Given the description of an element on the screen output the (x, y) to click on. 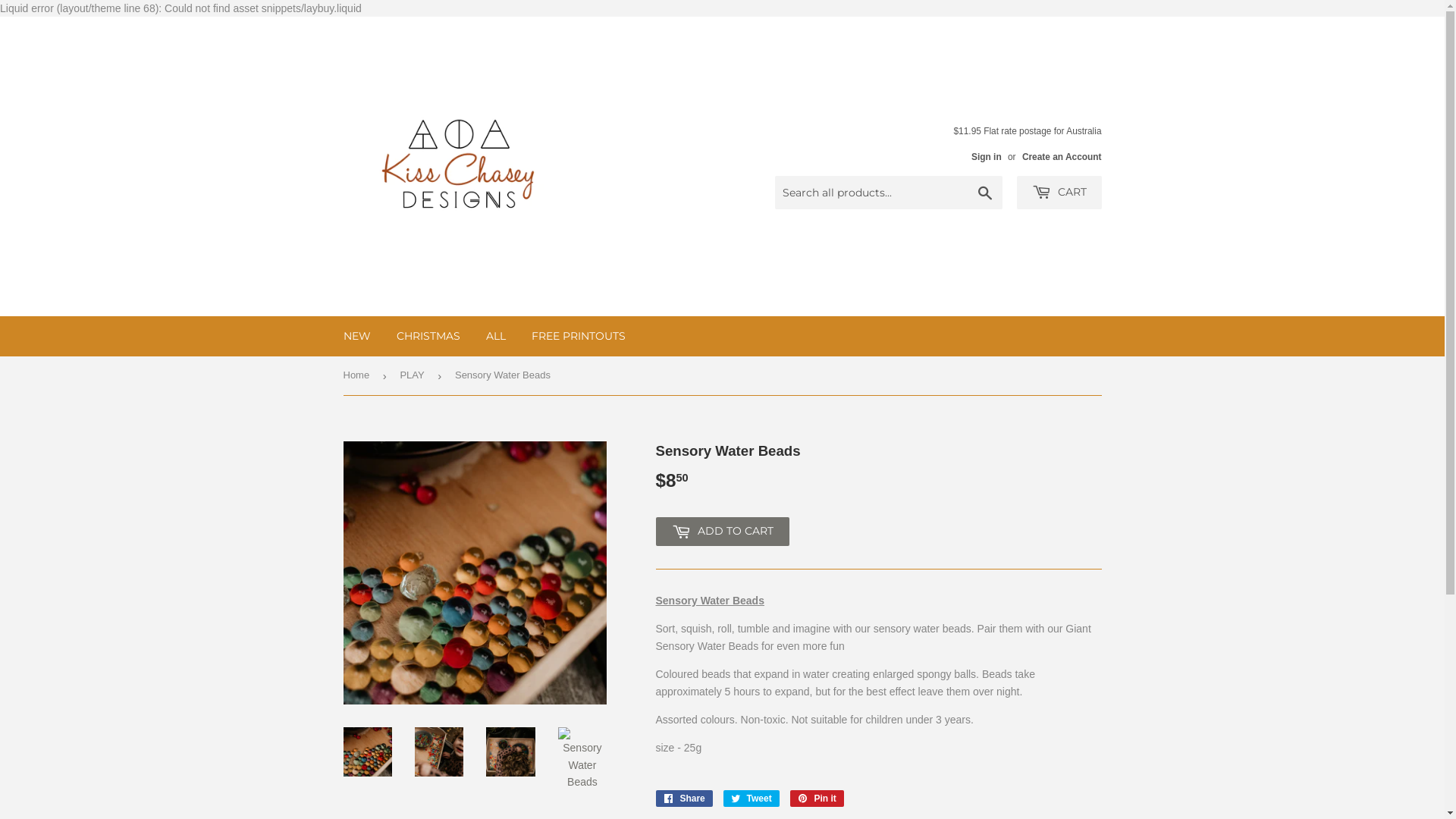
CART Element type: text (1058, 192)
Search Element type: text (985, 193)
FREE PRINTOUTS Element type: text (578, 335)
Pin it
Pin on Pinterest Element type: text (817, 798)
ADD TO CART Element type: text (721, 531)
Share
Share on Facebook Element type: text (683, 798)
Sign in Element type: text (986, 156)
Tweet
Tweet on Twitter Element type: text (751, 798)
NEW Element type: text (357, 335)
PLAY Element type: text (414, 375)
CHRISTMAS Element type: text (428, 335)
Create an Account Element type: text (1061, 156)
Home Element type: text (358, 375)
ALL Element type: text (495, 335)
